Given the description of an element on the screen output the (x, y) to click on. 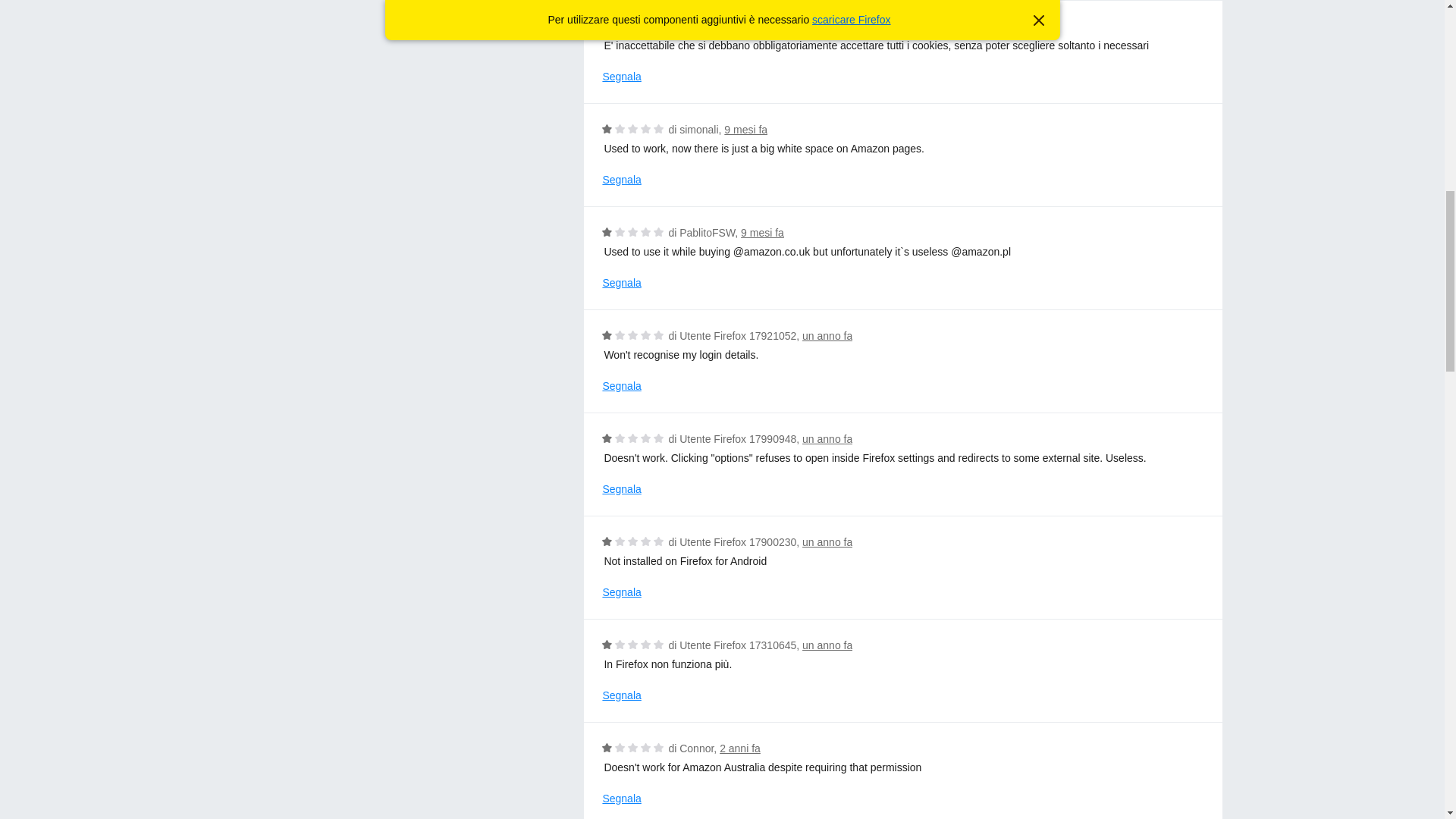
Segnala (621, 283)
9 mesi fa (745, 129)
un anno fa (826, 541)
Segnala (621, 489)
Segnala (621, 592)
Segnala (621, 385)
9 mesi fa (735, 26)
Segnala (621, 76)
Segnala (621, 179)
9 mesi fa (762, 232)
